Given the description of an element on the screen output the (x, y) to click on. 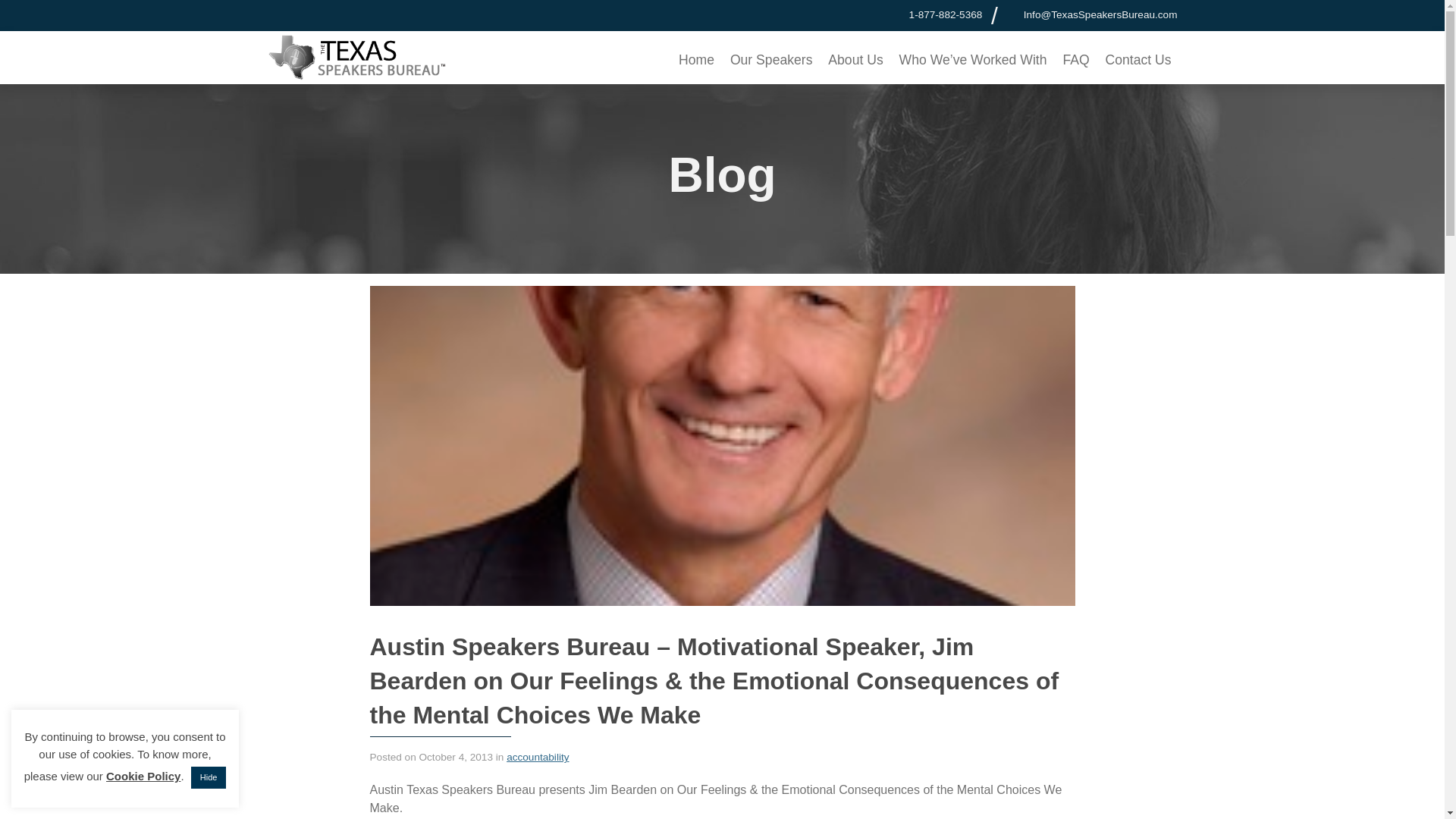
accountability (537, 756)
About Us (855, 59)
Home (696, 59)
Cookie Policy (143, 776)
Email (1100, 14)
Contact Us (1137, 59)
Our Speakers (770, 59)
Phone Number (897, 14)
1-877-882-5368 (945, 14)
Email (1012, 14)
FAQ (1075, 59)
Hide (208, 777)
